Given the description of an element on the screen output the (x, y) to click on. 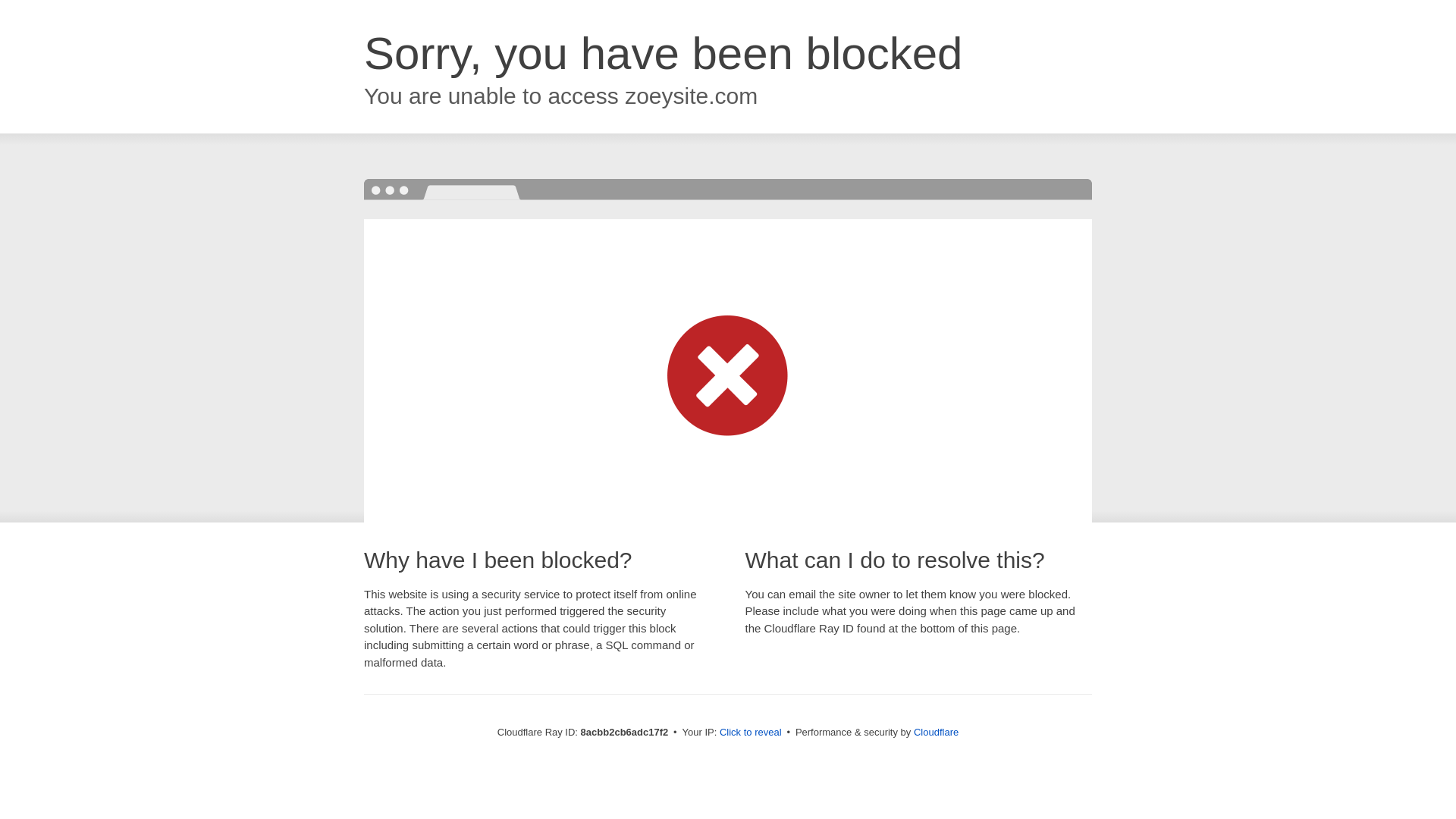
Cloudflare (936, 731)
Click to reveal (750, 732)
